Given the description of an element on the screen output the (x, y) to click on. 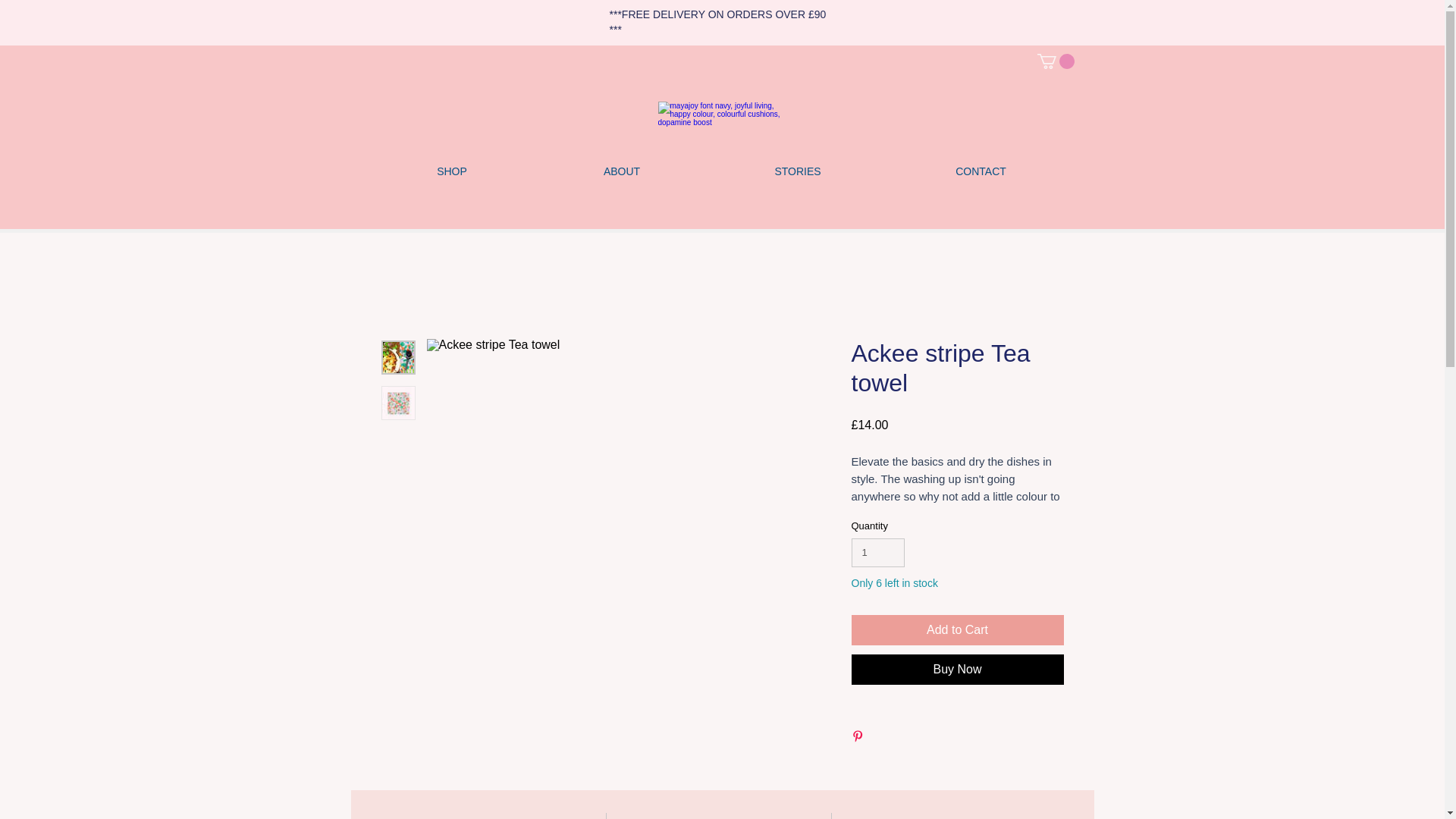
ABOUT (622, 170)
1 (877, 552)
SHOP (451, 170)
Buy Now (956, 669)
CONTACT (980, 170)
Add to Cart (956, 630)
STORIES (796, 170)
